Given the description of an element on the screen output the (x, y) to click on. 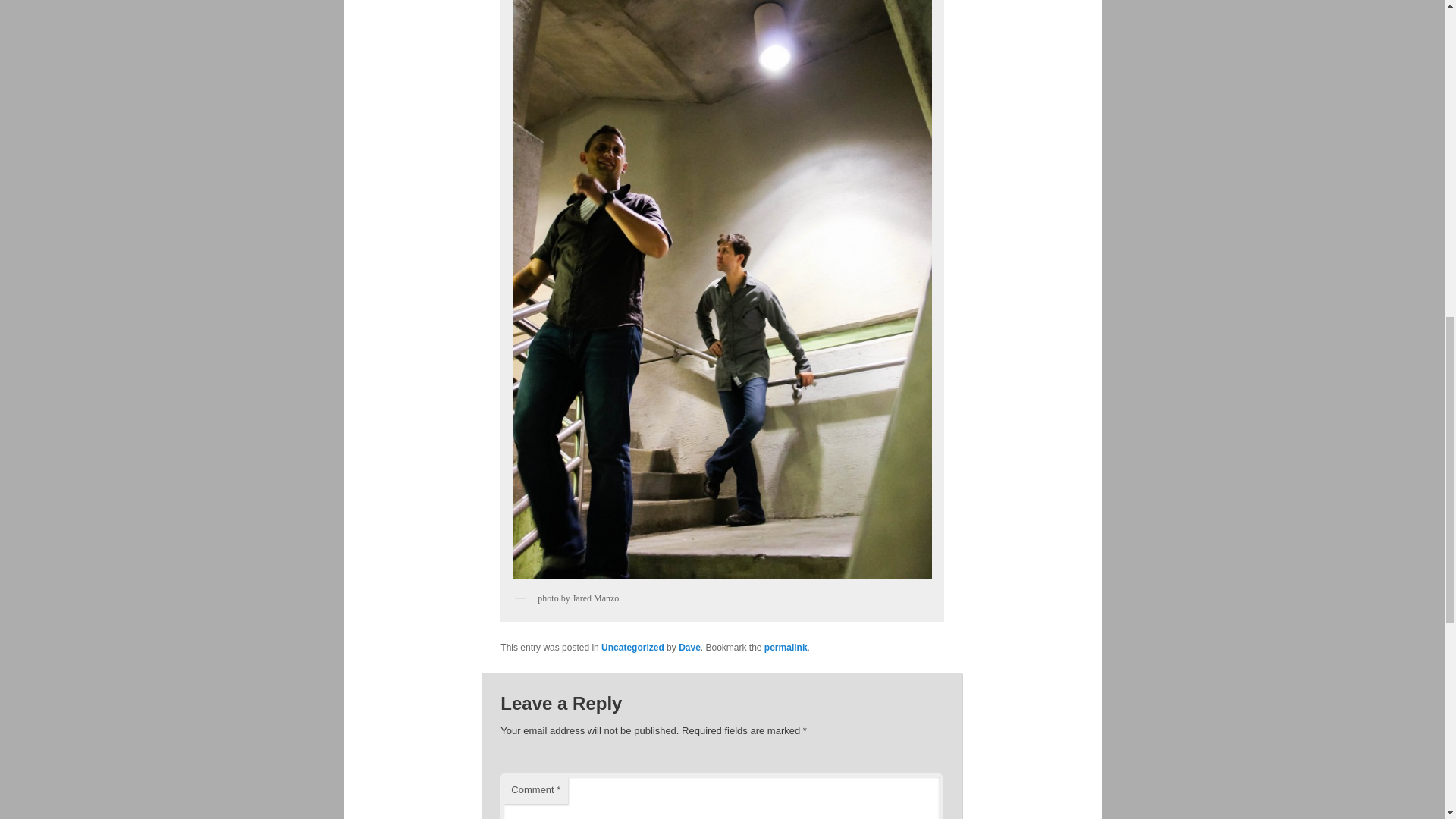
Uncategorized (632, 647)
Permalink to Progress on the new album! (786, 647)
permalink (786, 647)
Dave (689, 647)
